Given the description of an element on the screen output the (x, y) to click on. 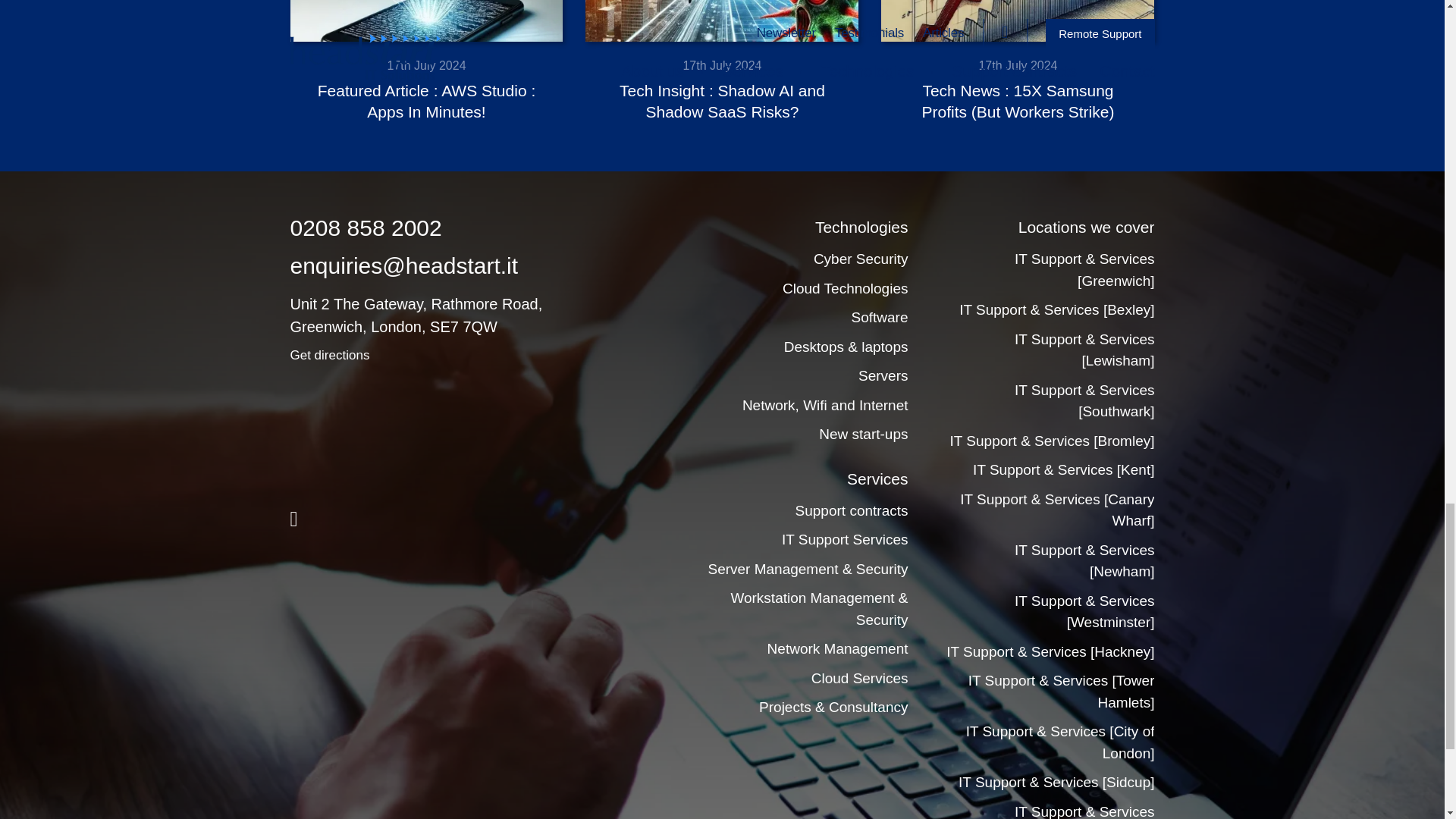
Follow us on Facebook (293, 519)
